Given the description of an element on the screen output the (x, y) to click on. 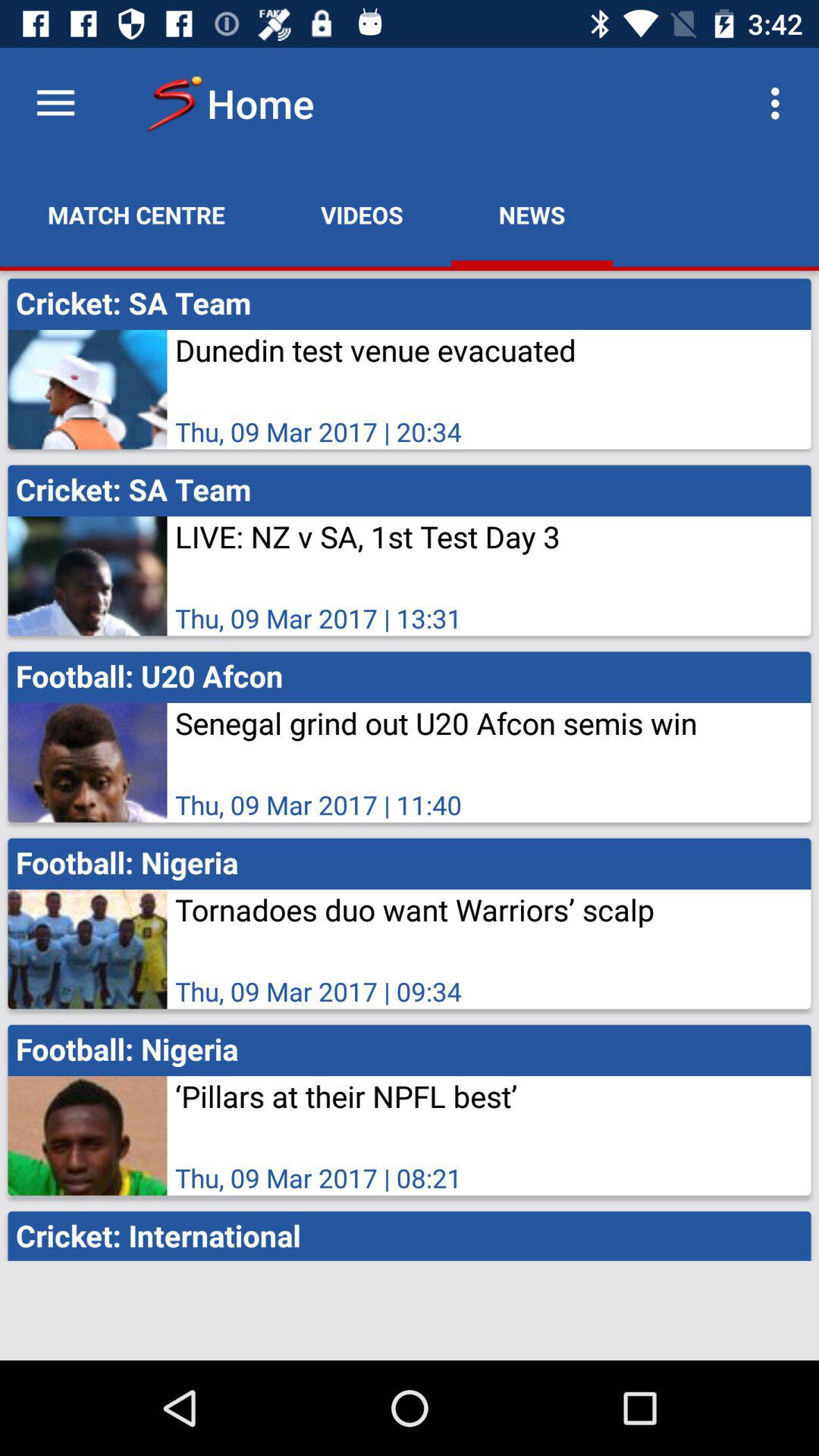
choose the match centre icon (136, 214)
